Given the description of an element on the screen output the (x, y) to click on. 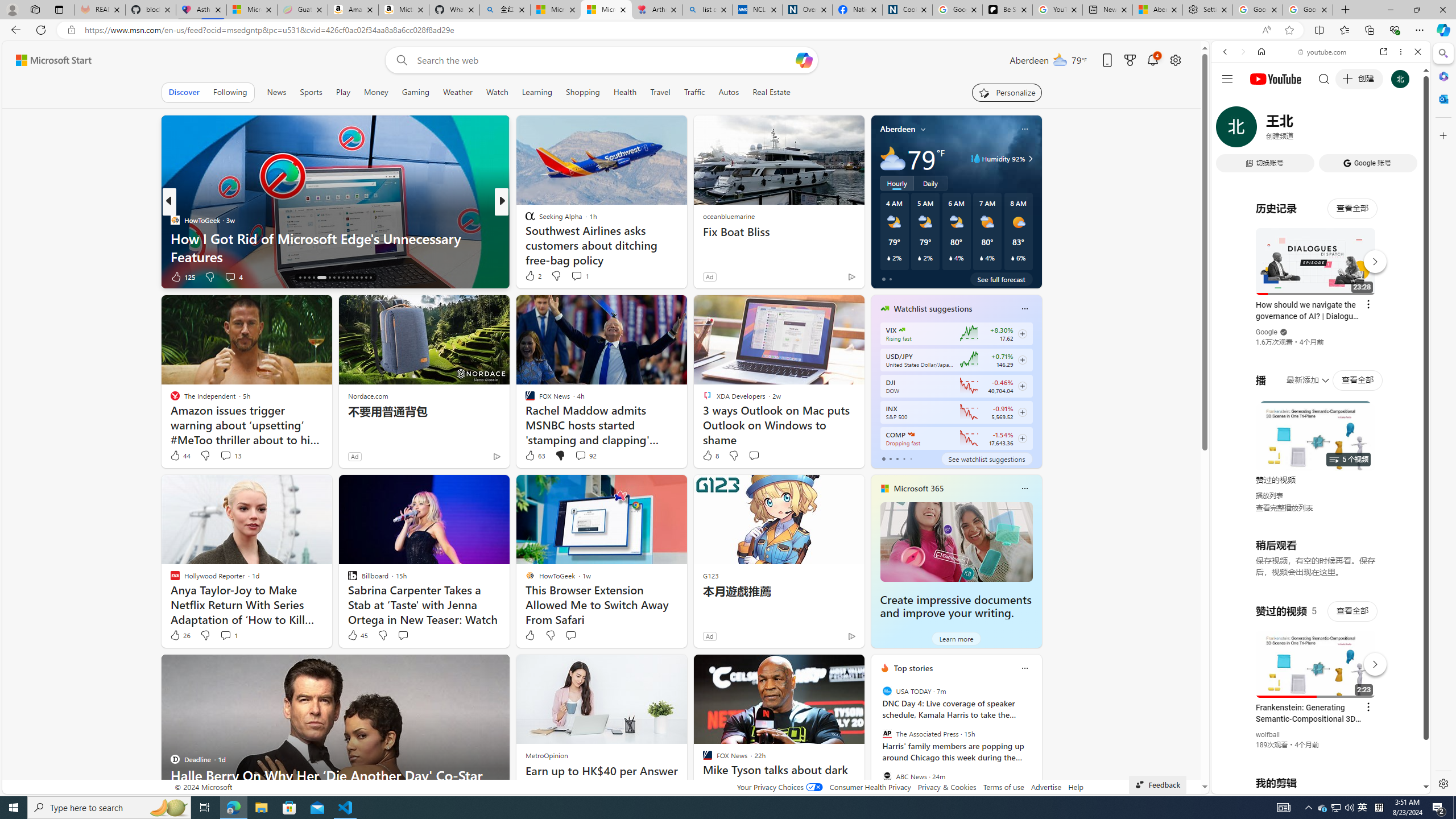
Daily (929, 183)
The Washington Post (524, 219)
Humidity 92% (1028, 158)
Allrecipes (524, 219)
